Given the description of an element on the screen output the (x, y) to click on. 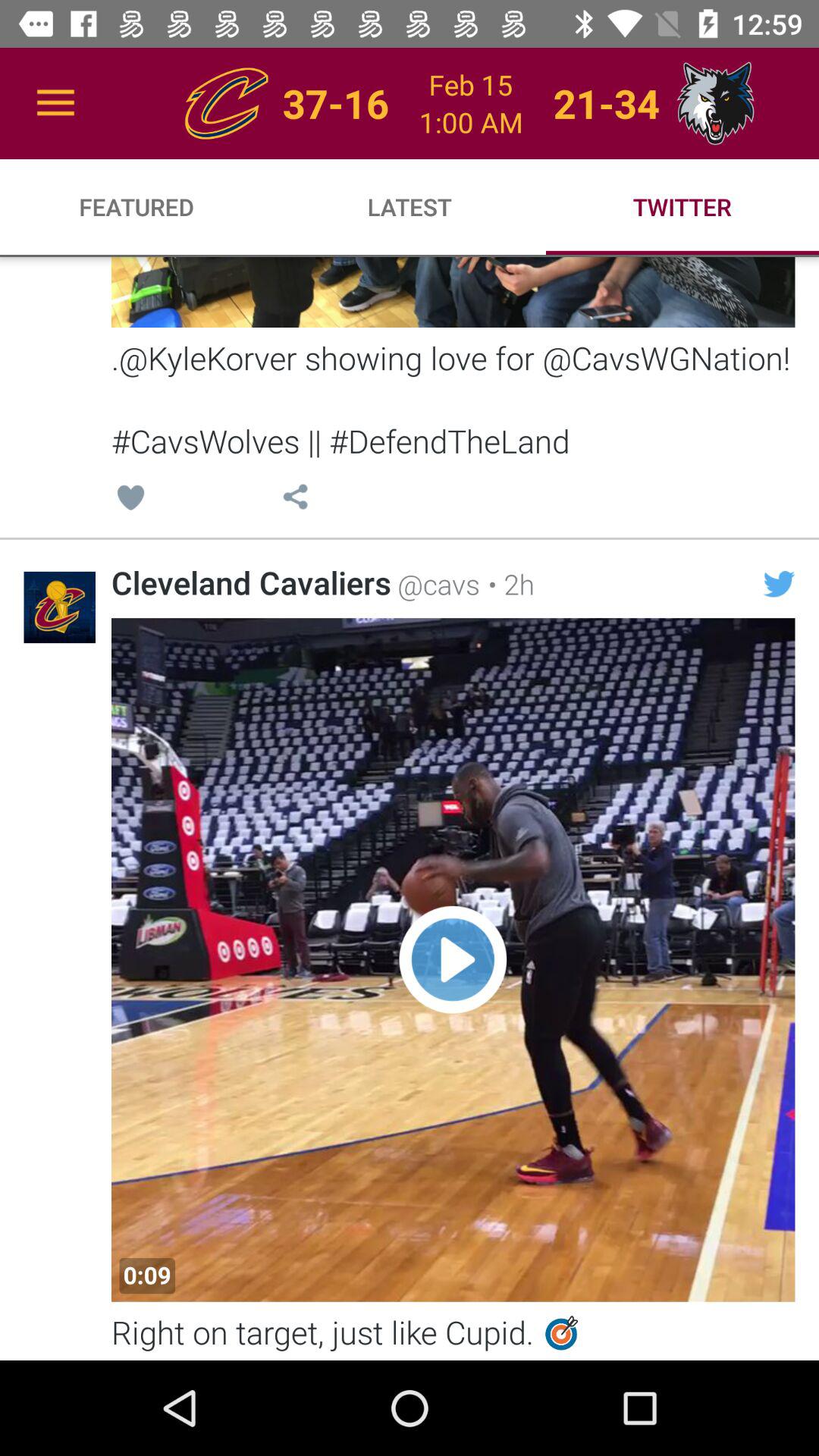
turn on the item below kylekorver showing love item (779, 584)
